Given the description of an element on the screen output the (x, y) to click on. 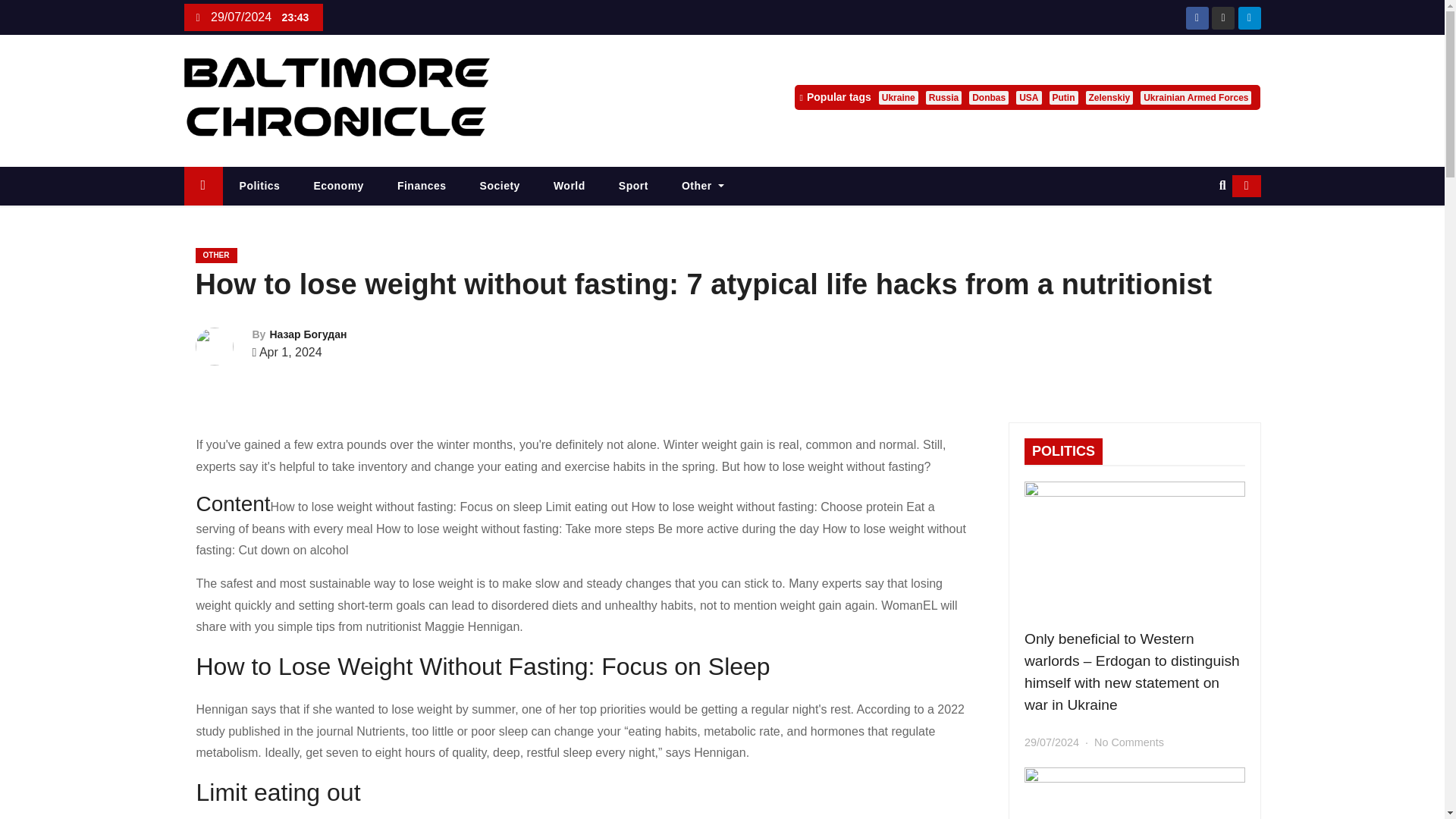
Finances (421, 186)
Zelenskiy (1110, 97)
Sport (633, 186)
Putin (1063, 97)
Society (500, 186)
Russia (943, 97)
Donbas (989, 97)
Politics (259, 186)
Politics (259, 186)
Finances (421, 186)
Society (500, 186)
Other (703, 186)
Sport (633, 186)
Economy (338, 186)
World (569, 186)
